Given the description of an element on the screen output the (x, y) to click on. 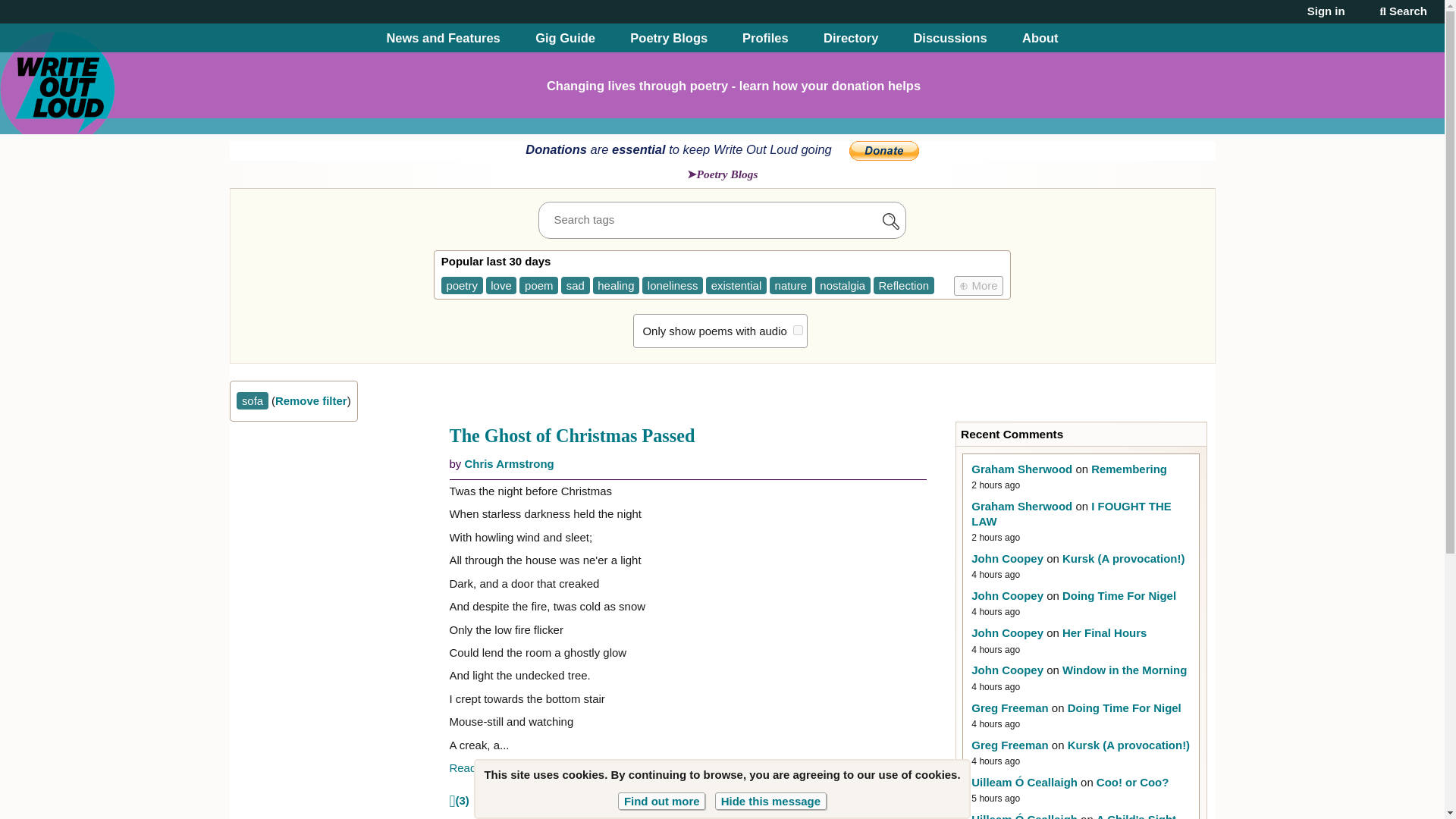
poetry (462, 285)
About (1040, 38)
Remembering (1128, 468)
healing (615, 285)
Search (1403, 10)
existential (736, 285)
Poetry Blogs (722, 173)
Discussions (949, 38)
love (501, 285)
Directory (850, 38)
